Given the description of an element on the screen output the (x, y) to click on. 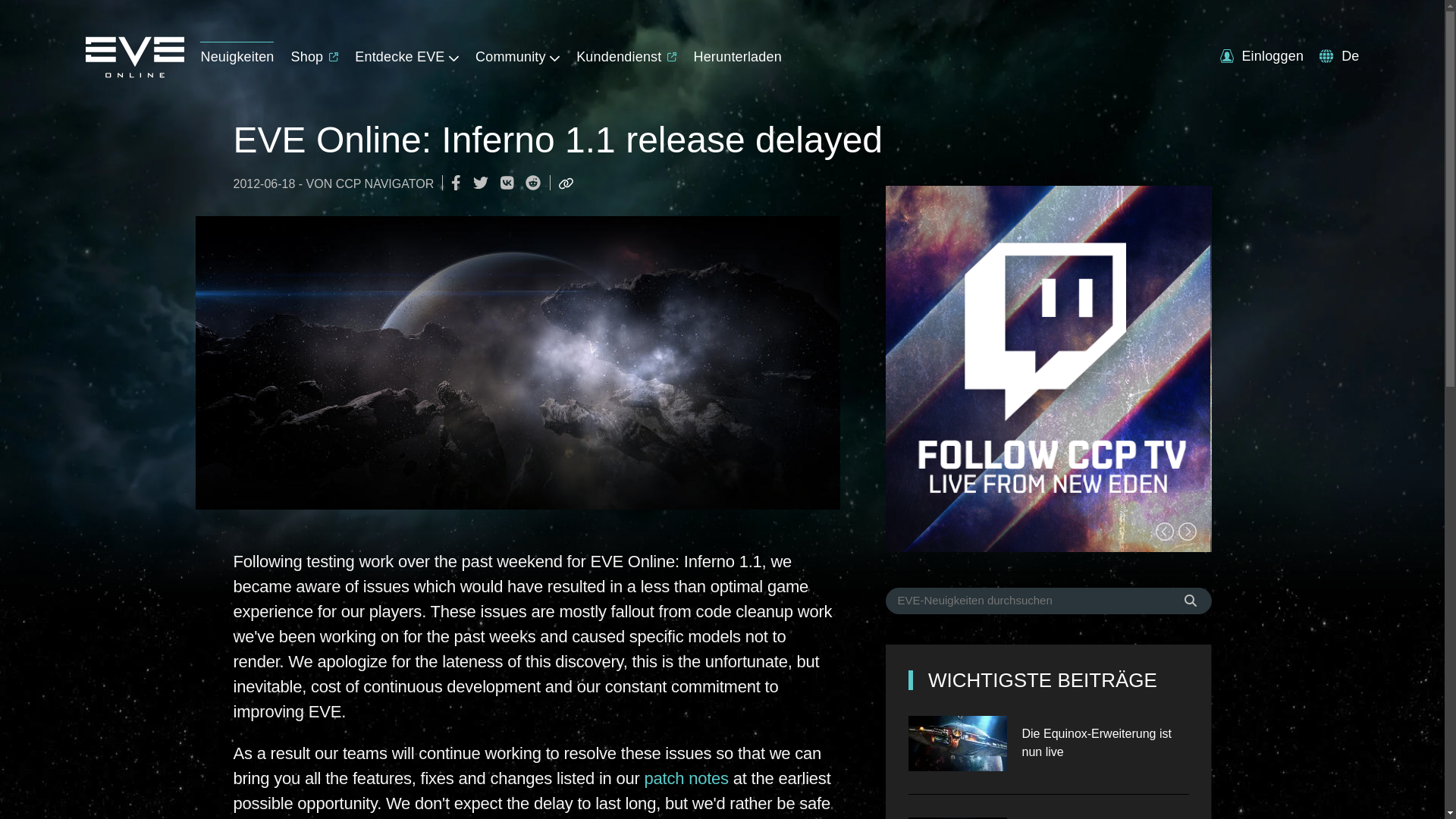
Shop (315, 53)
Herunterladen (736, 53)
Kundendienst (626, 53)
Home (133, 72)
Neuigkeiten (236, 53)
Einloggen (1261, 55)
